Given the description of an element on the screen output the (x, y) to click on. 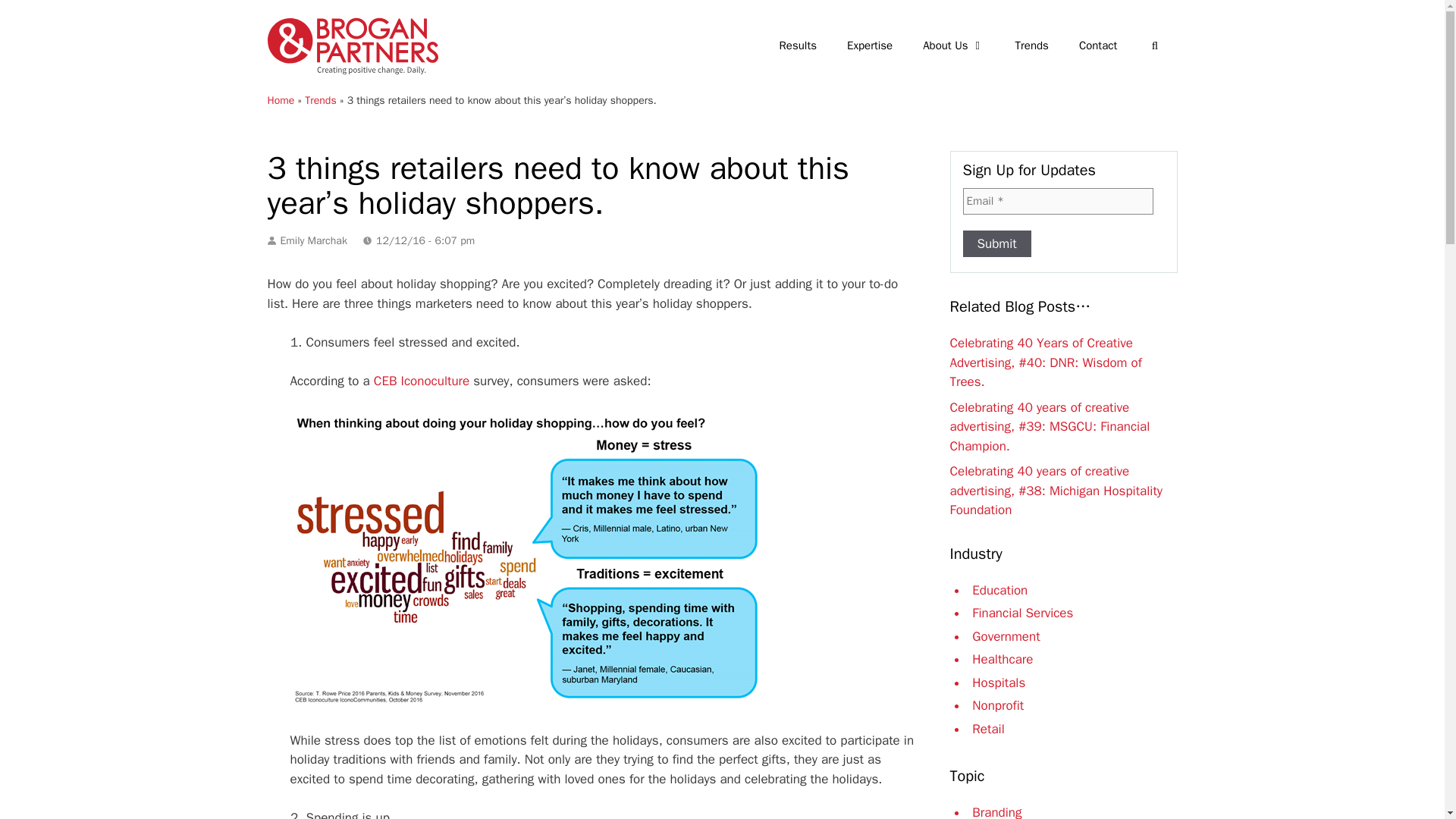
Education (999, 590)
Contact (1098, 44)
Retail (988, 728)
Trends (1032, 44)
Trends (320, 100)
Results (797, 44)
Hospitals (998, 682)
Nonprofit (997, 705)
Submit (996, 243)
Government (1005, 635)
